Given the description of an element on the screen output the (x, y) to click on. 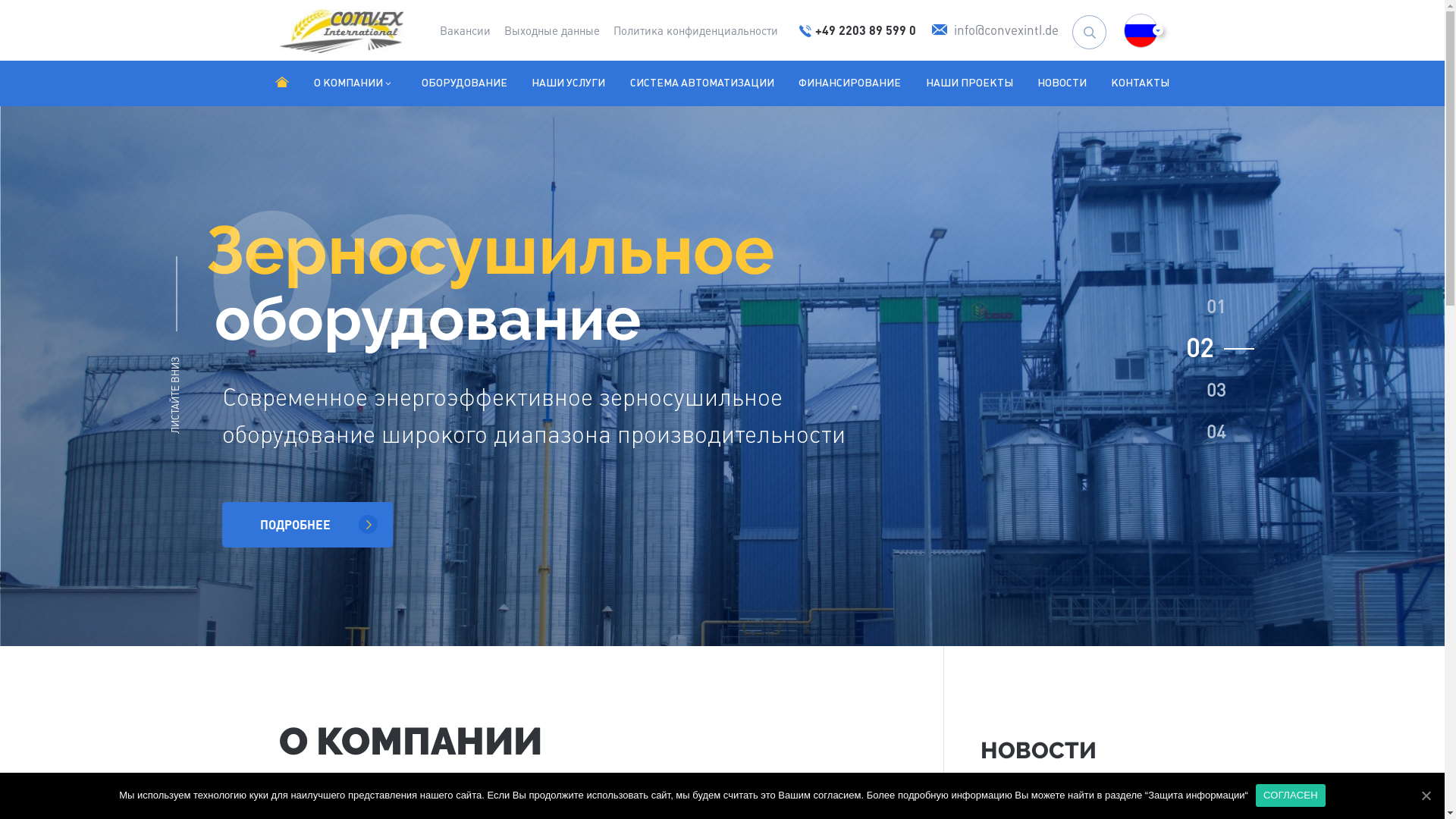
info@convexintl.de Element type: text (994, 30)
+49 2203 89 599 0 Element type: text (857, 30)
